Given the description of an element on the screen output the (x, y) to click on. 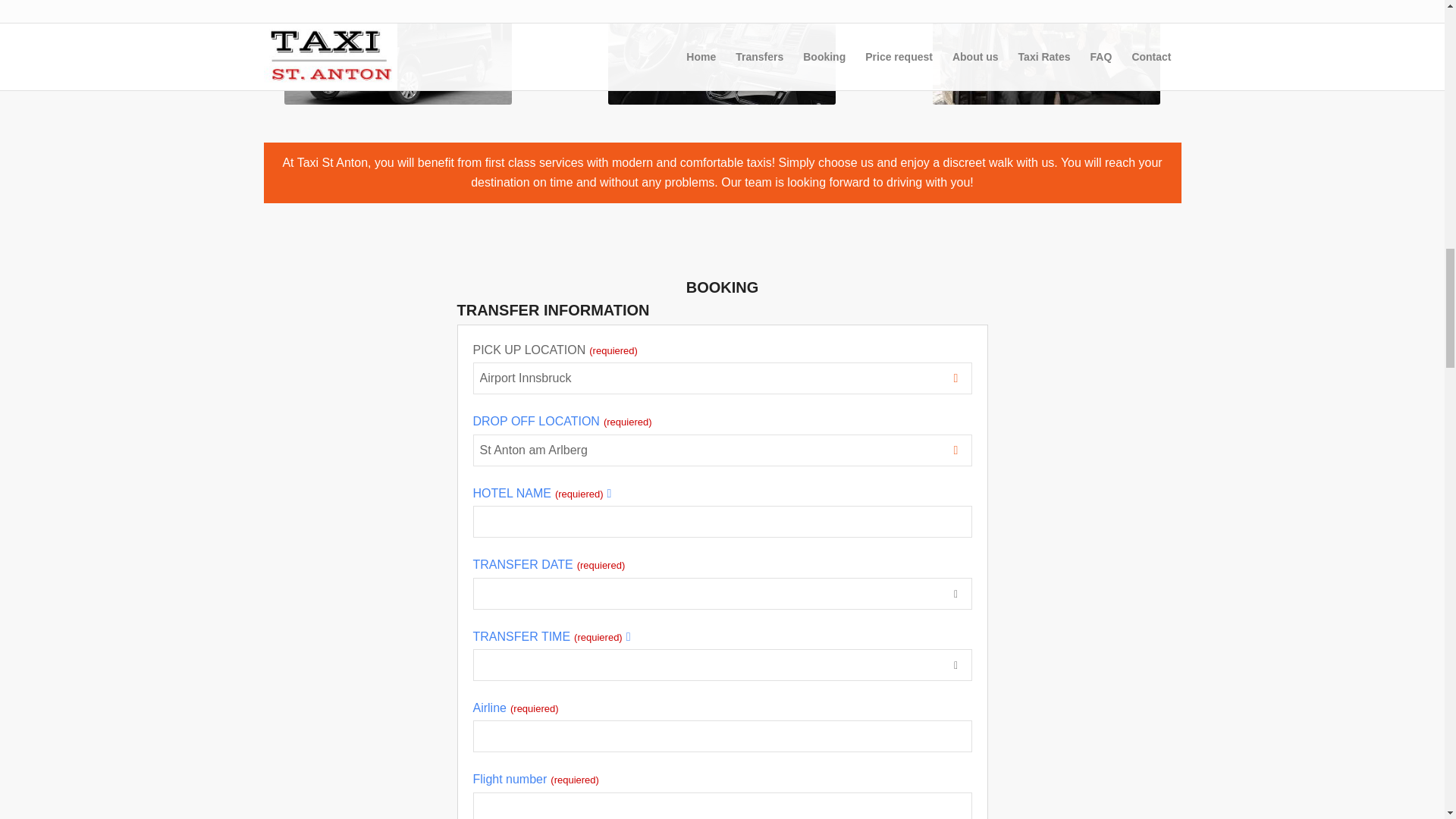
St Anton am Arlberg (721, 450)
Airport Innsbruck (721, 378)
taxi stanton cab dashboard (721, 52)
taxi interior view (1046, 52)
taxi st anton cab front (397, 52)
